Given the description of an element on the screen output the (x, y) to click on. 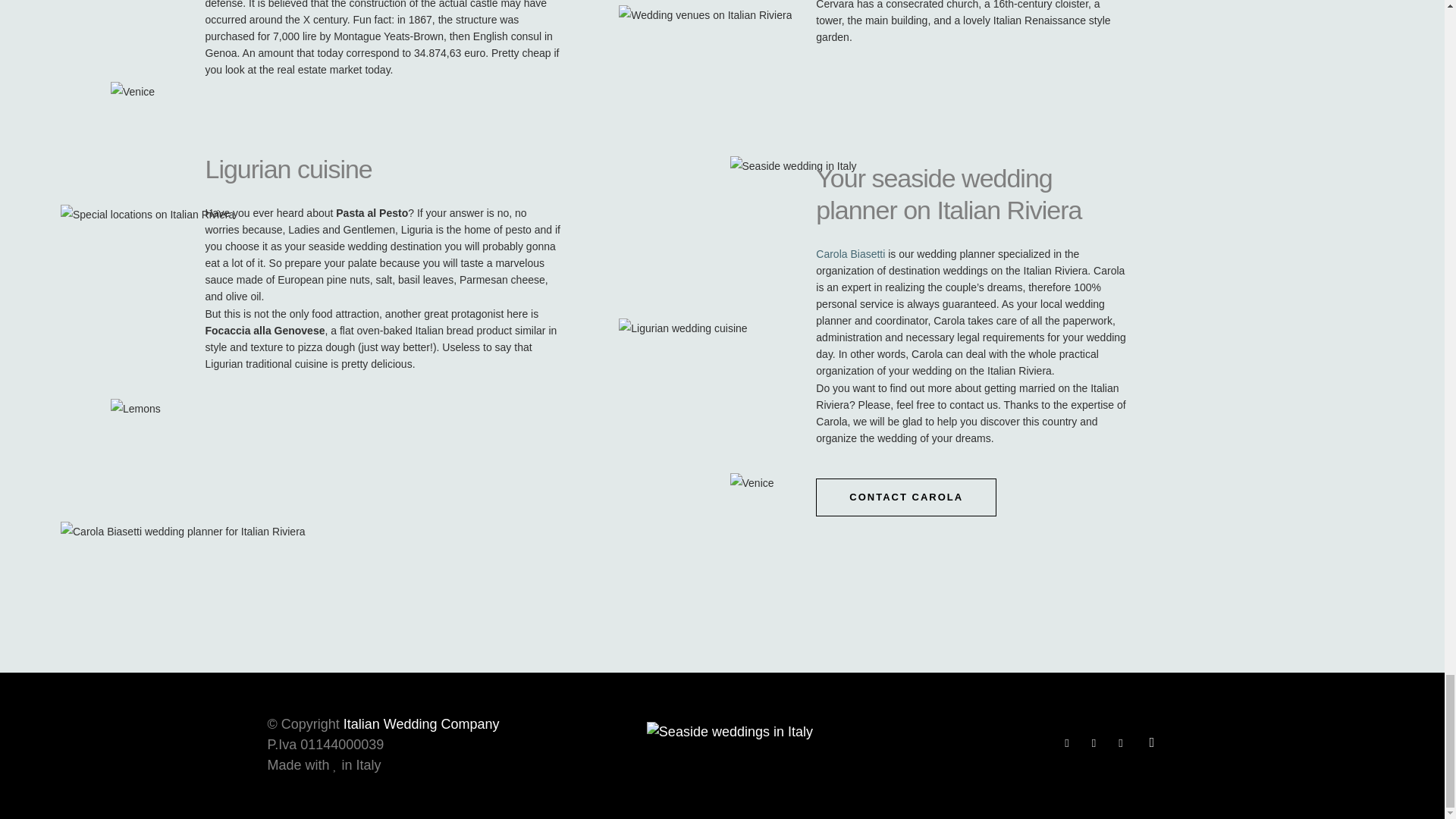
Carola Biasetti (850, 254)
CONTACT CAROLA (905, 497)
Italian Wedding Company (421, 724)
Venice (132, 91)
